Given the description of an element on the screen output the (x, y) to click on. 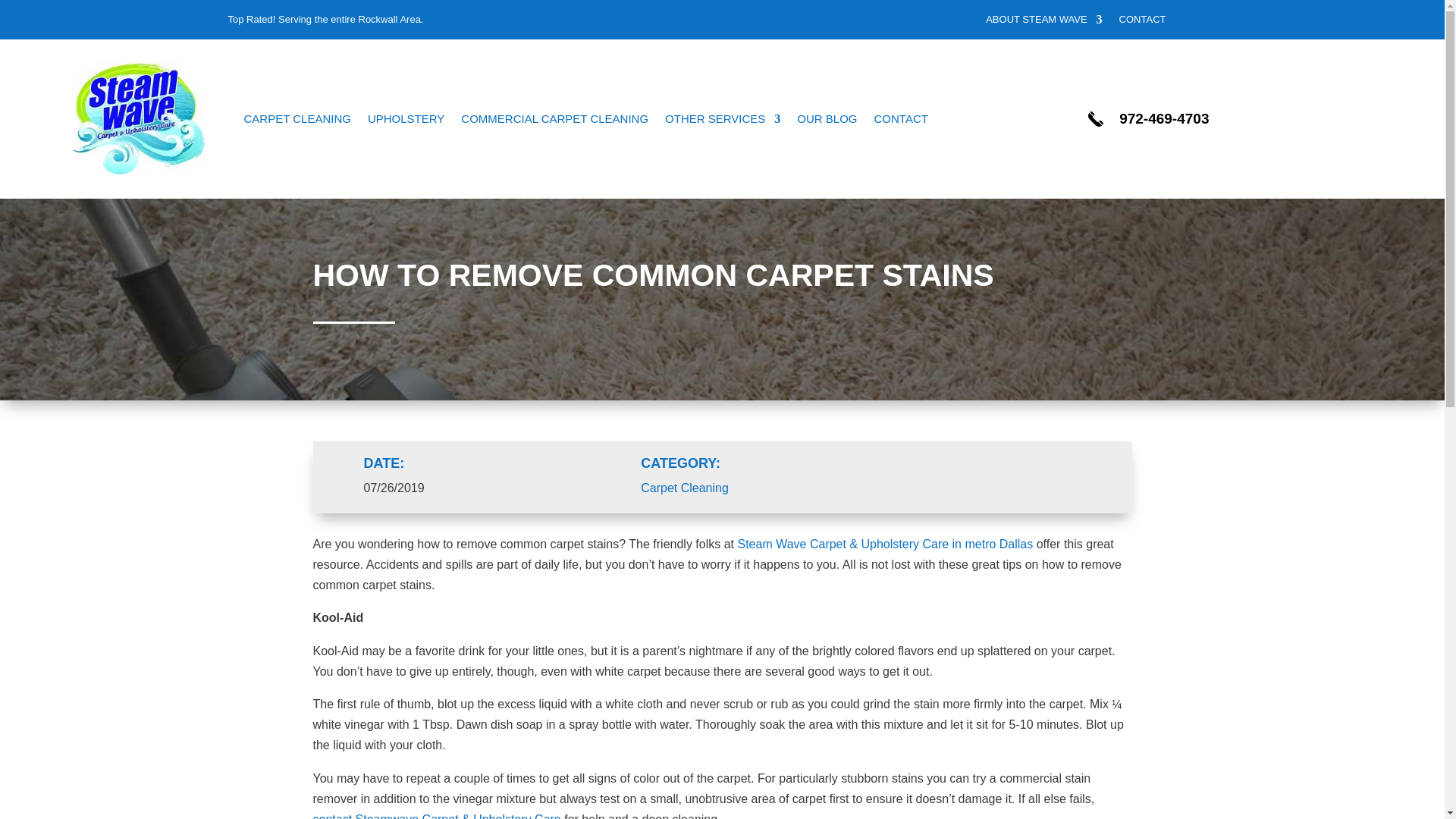
COMMERCIAL CARPET CLEANING (554, 119)
Carpet Cleaning (297, 119)
Request an Estimate (1142, 22)
CONTACT (1142, 22)
ABOUT STEAM WAVE (1043, 22)
CARPET CLEANING (297, 119)
972-469-4703 (1163, 118)
Commercial Carpet Cleaning (554, 119)
OTHER SERVICES (722, 119)
